Given the description of an element on the screen output the (x, y) to click on. 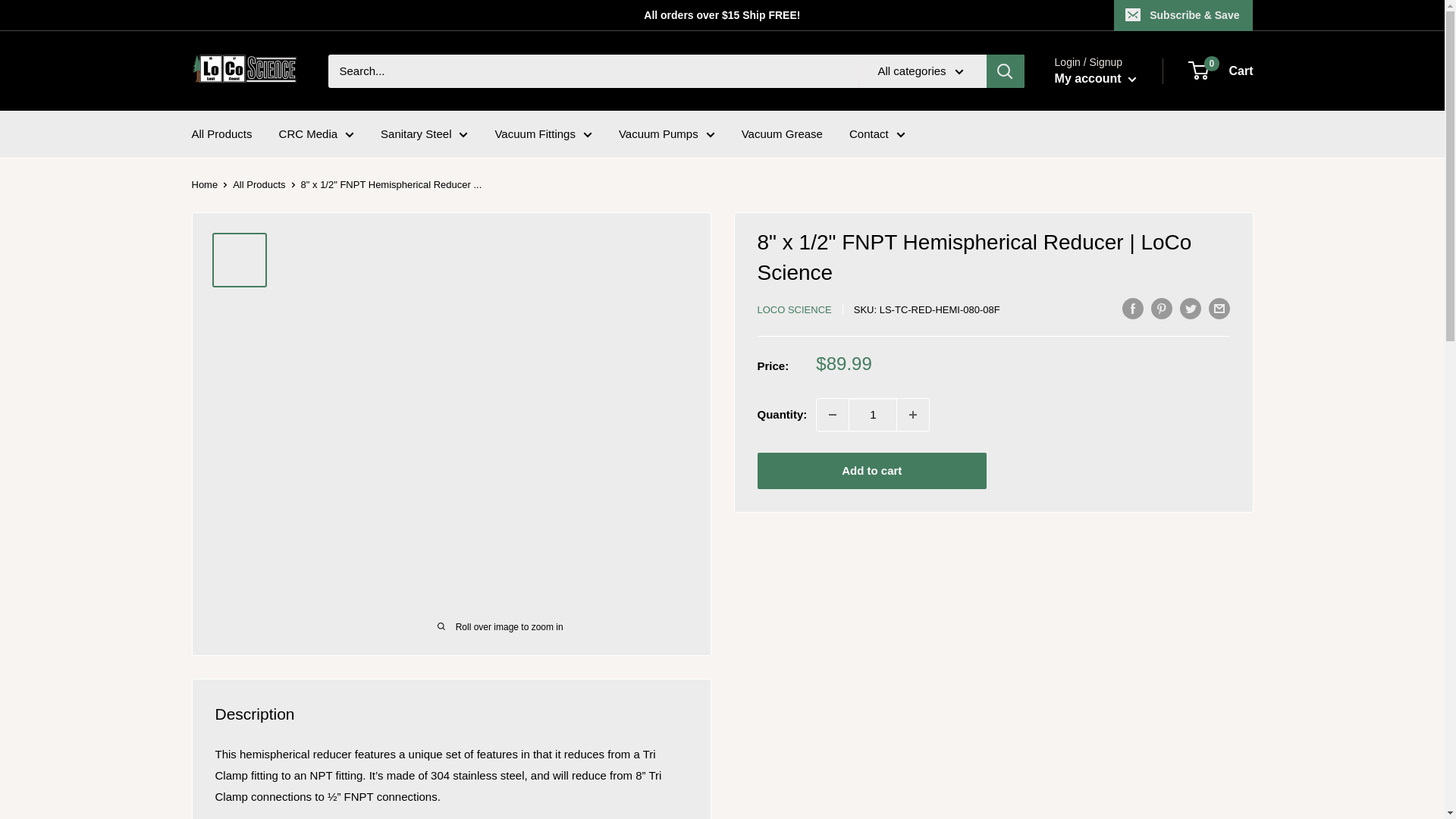
Decrease quantity by 1 (832, 414)
Increase quantity by 1 (912, 414)
1 (872, 414)
